Given the description of an element on the screen output the (x, y) to click on. 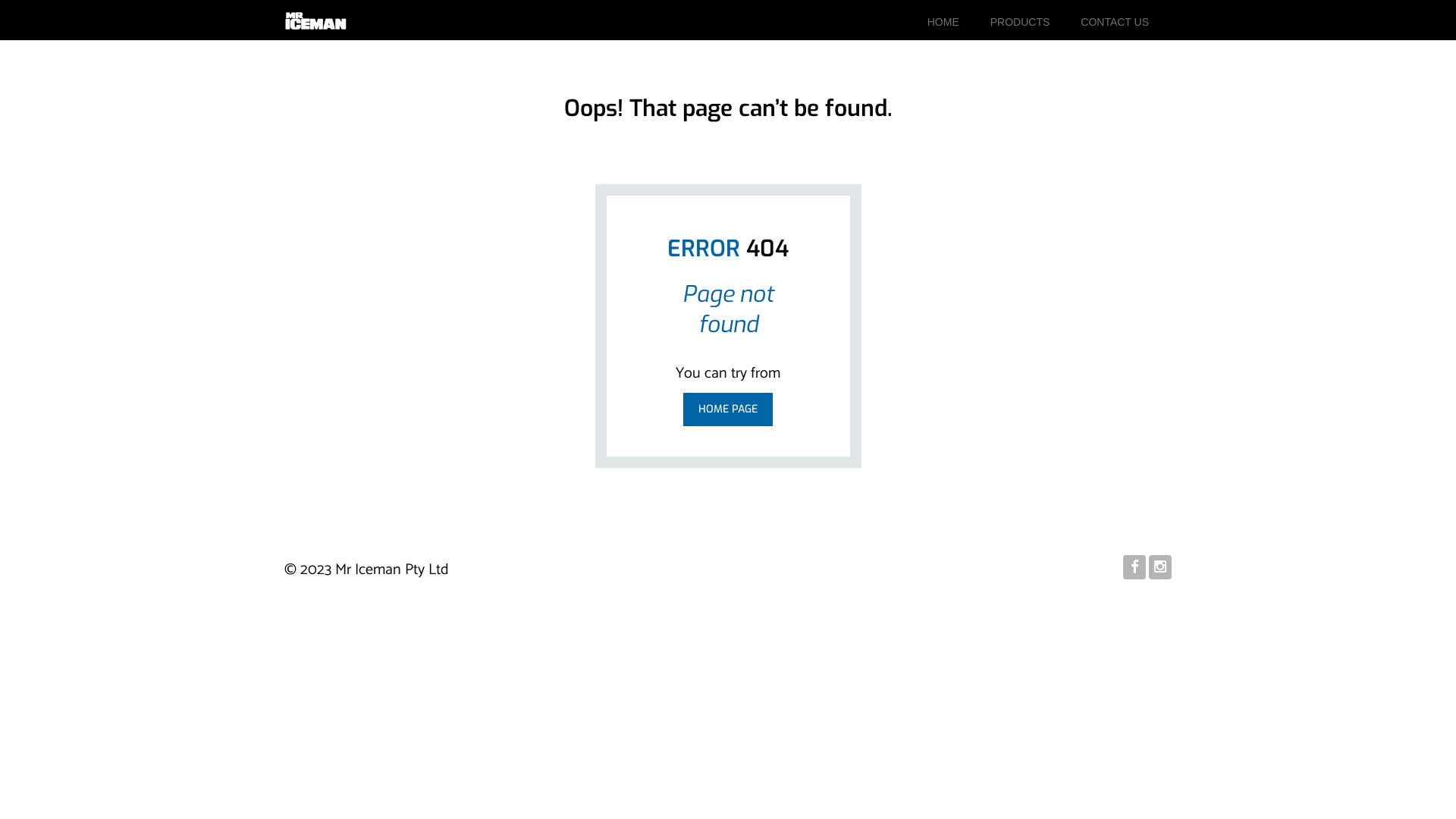
HOME PAGE Element type: text (727, 409)
HOME Element type: text (943, 21)
PRODUCTS Element type: text (1020, 21)
CONTACT US Element type: text (1114, 21)
